Given the description of an element on the screen output the (x, y) to click on. 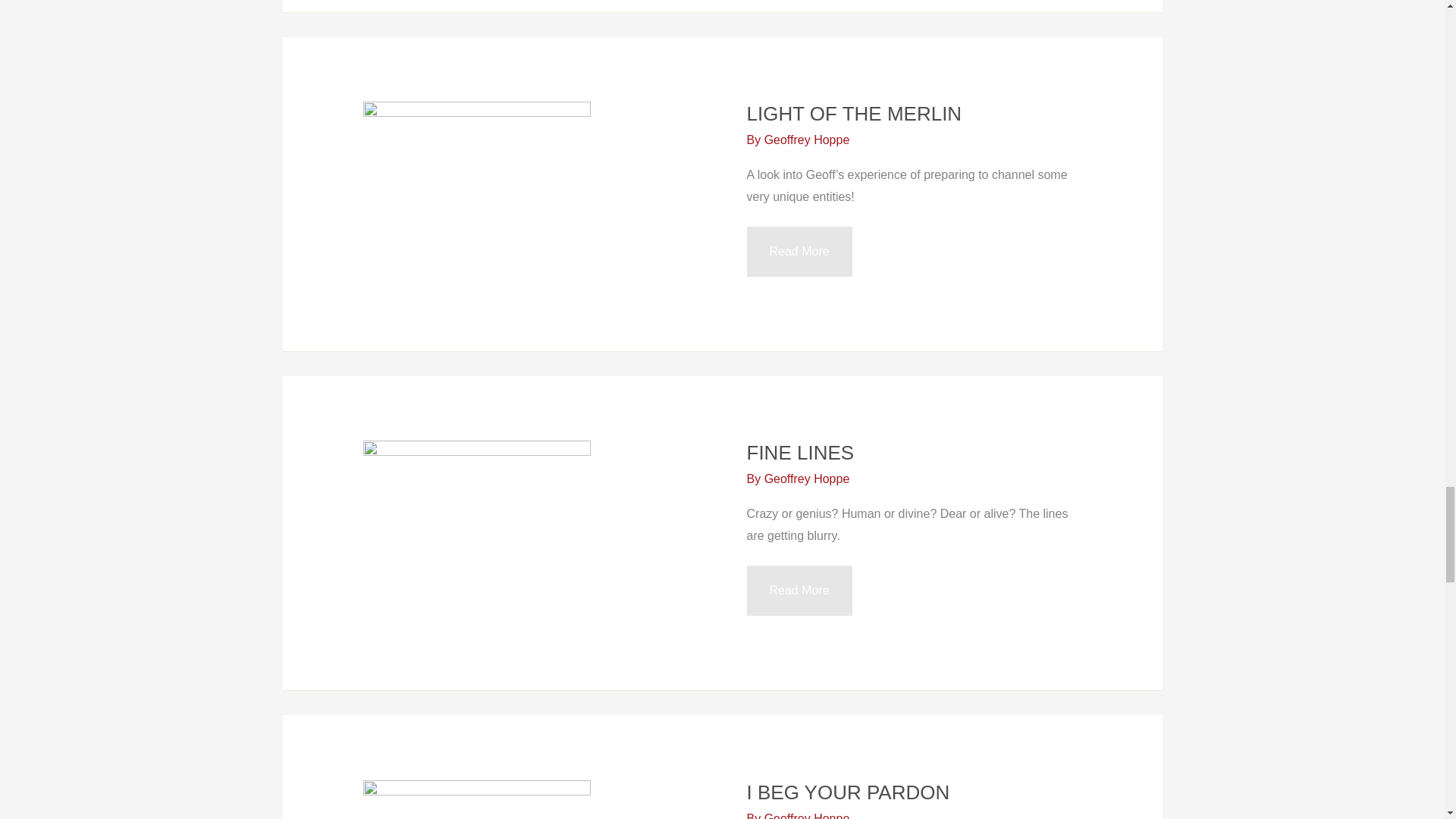
View all posts by Geoffrey Hoppe (807, 815)
View all posts by Geoffrey Hoppe (807, 139)
View all posts by Geoffrey Hoppe (807, 478)
